Given the description of an element on the screen output the (x, y) to click on. 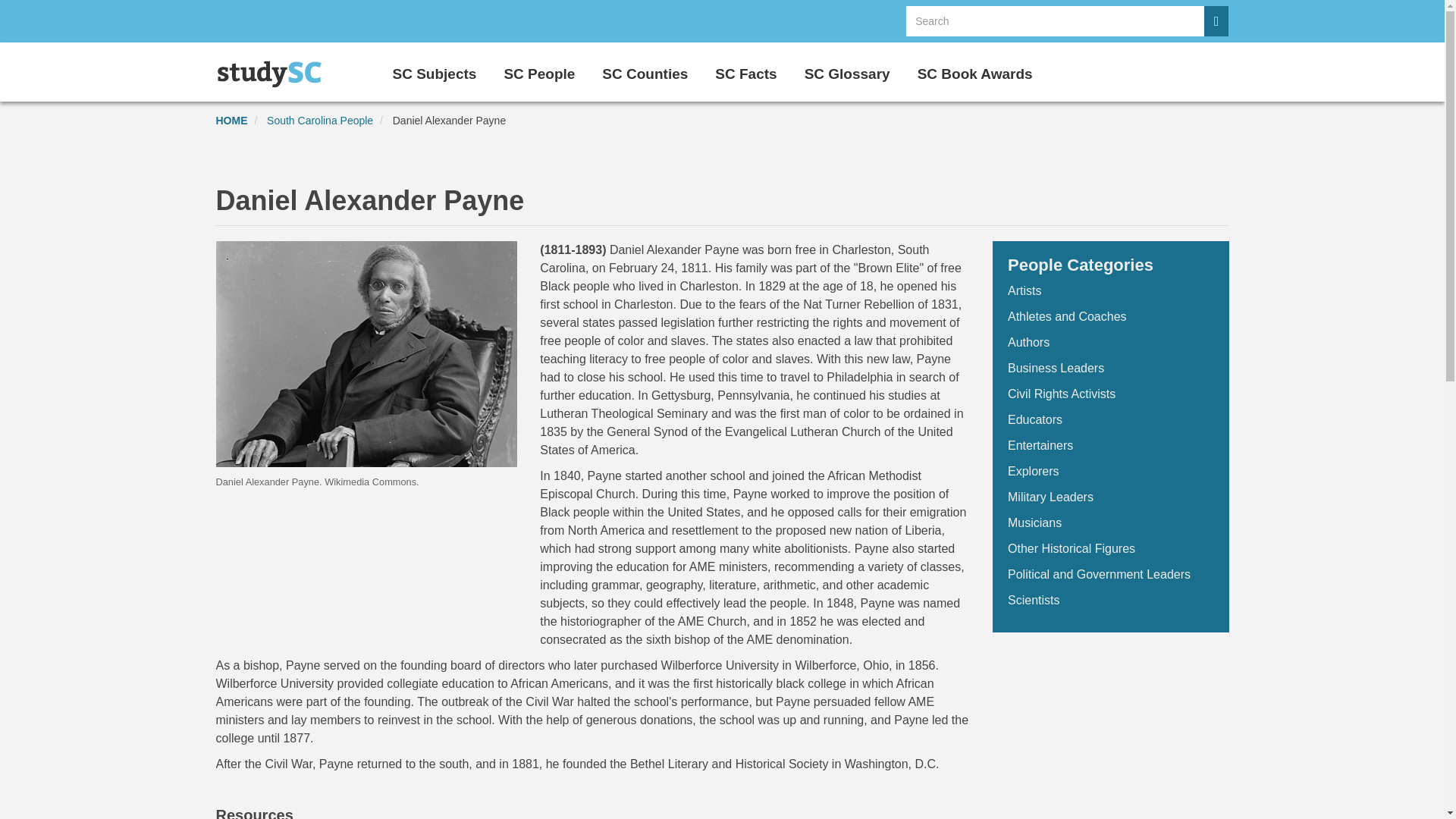
SC Facts (745, 69)
SC People (539, 69)
Explorers (1033, 471)
Home (274, 73)
Other Historical Figures (1071, 548)
Military Leaders (1050, 496)
Political and Government Leaders (1099, 574)
SC Counties (643, 69)
Search (1216, 20)
Educators (1034, 419)
HOME (231, 120)
Artists (1024, 290)
South Carolina People (319, 120)
SC Book Awards (974, 69)
